Given the description of an element on the screen output the (x, y) to click on. 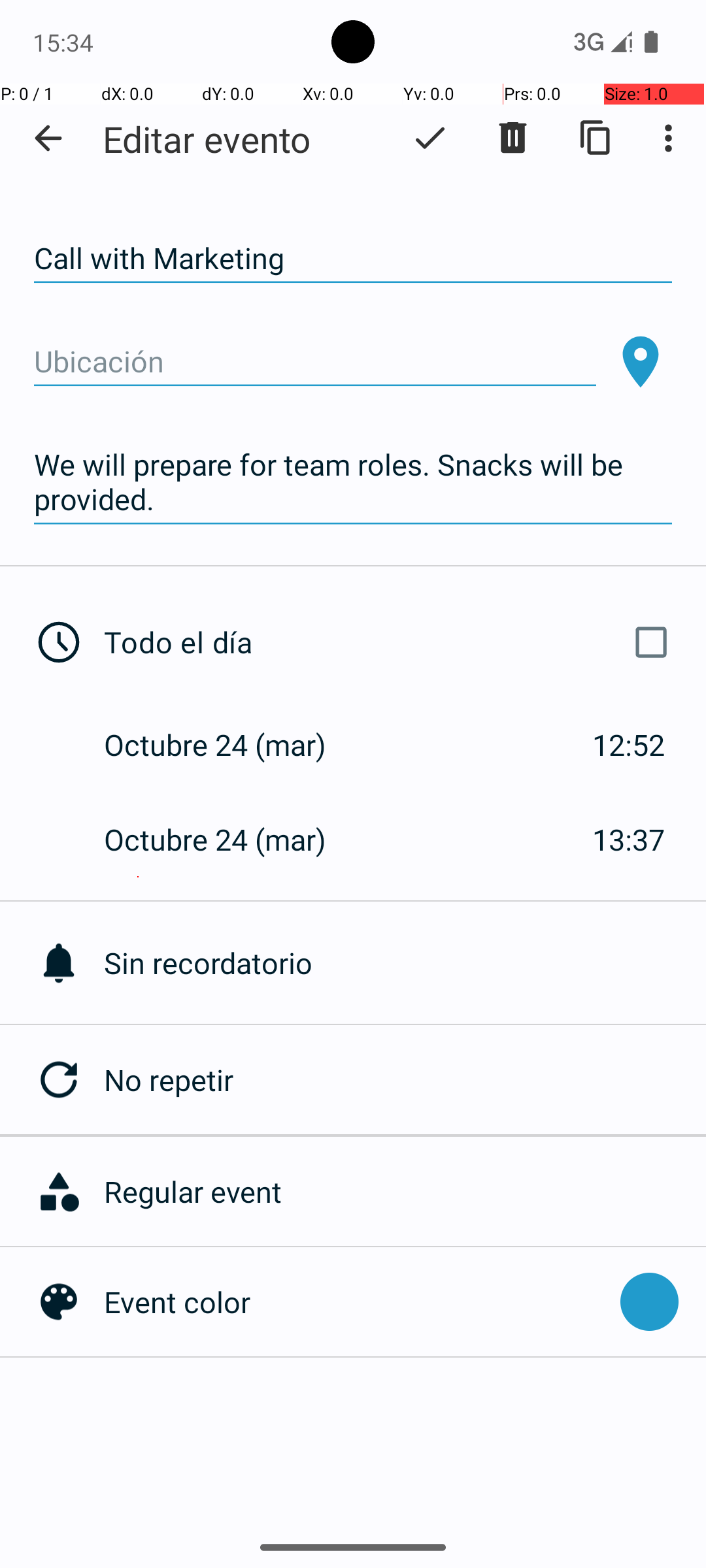
Editar evento Element type: android.widget.TextView (206, 138)
Eliminar Element type: android.widget.Button (512, 137)
Duplicar un evento Element type: android.widget.Button (595, 137)
Call with Marketing Element type: android.widget.EditText (352, 258)
Ubicación Element type: android.widget.EditText (314, 361)
We will prepare for team roles. Snacks will be provided. Element type: android.widget.EditText (352, 482)
Octubre 24 (mar) Element type: android.widget.TextView (228, 744)
12:52 Element type: android.widget.TextView (628, 744)
13:37 Element type: android.widget.TextView (628, 838)
Sin recordatorio Element type: android.widget.TextView (404, 962)
